Given the description of an element on the screen output the (x, y) to click on. 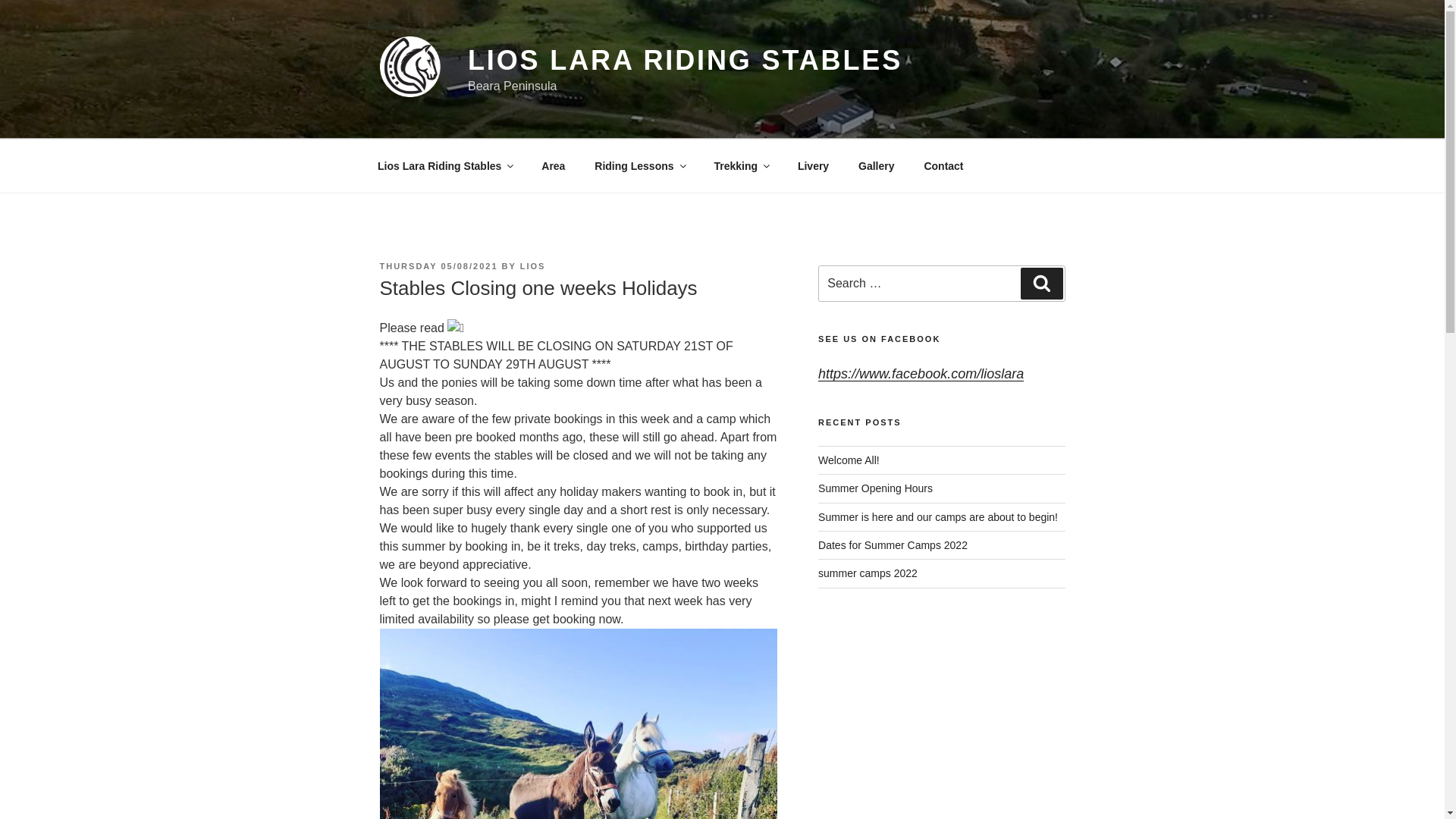
Trekking (740, 165)
Summer is here and our camps are about to begin! (938, 517)
Contact (943, 165)
Area (553, 165)
Riding Lessons (638, 165)
LIOS (532, 266)
Gallery (876, 165)
Livery (812, 165)
LIOS LARA RIDING STABLES (684, 60)
Lios Lara Riding Stables (444, 165)
